Given the description of an element on the screen output the (x, y) to click on. 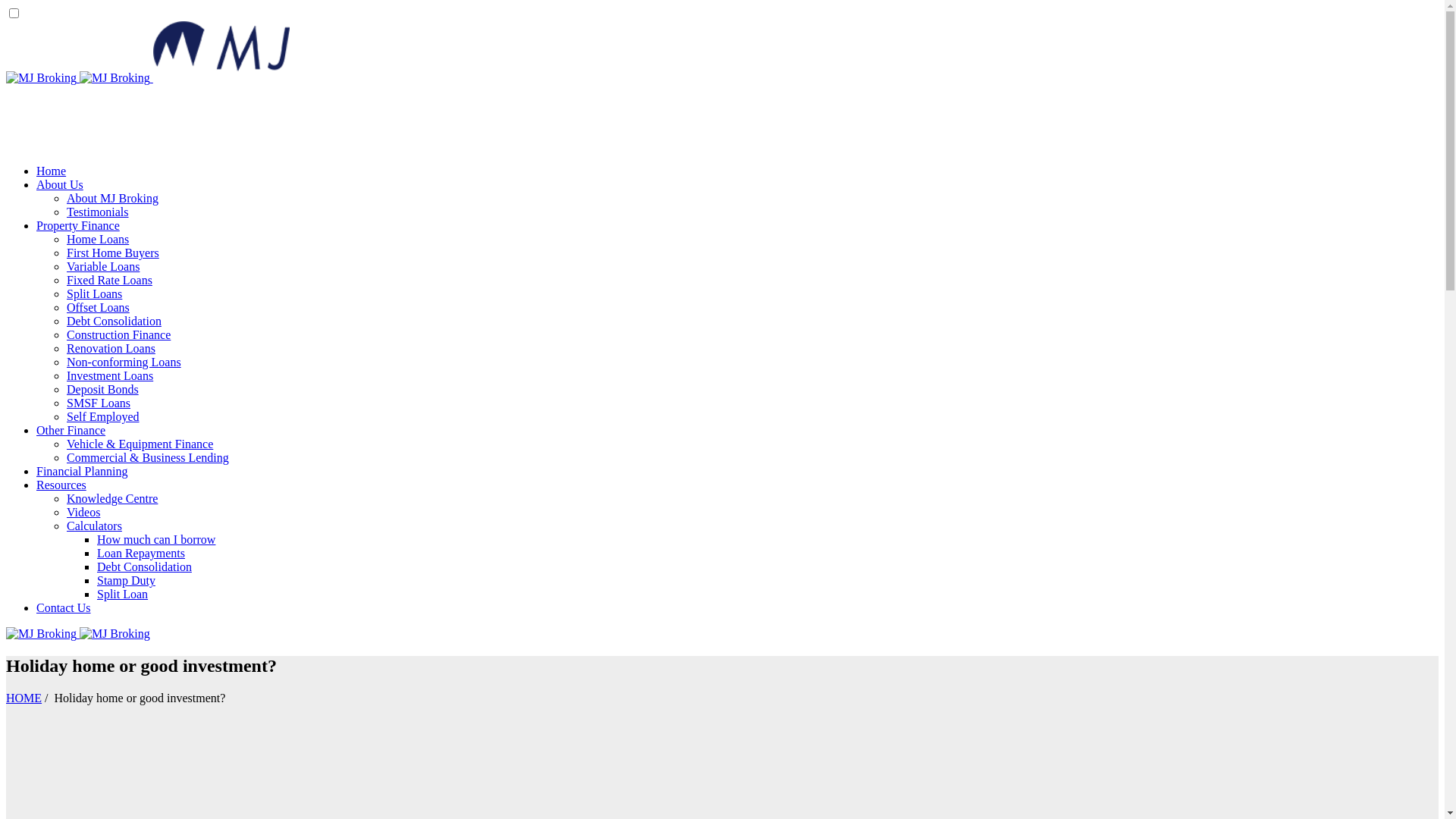
How much can I borrow Element type: text (156, 539)
Home Element type: text (50, 170)
Resources Element type: text (61, 484)
About MJ Broking Element type: text (112, 197)
Split Loan Element type: text (122, 593)
Commercial & Business Lending Element type: text (147, 457)
Loan Repayments Element type: text (141, 552)
SMSF Loans Element type: text (98, 402)
Testimonials Element type: text (97, 211)
Offset Loans Element type: text (97, 307)
Debt Consolidation Element type: text (144, 566)
Split Loans Element type: text (94, 293)
Deposit Bonds Element type: text (102, 388)
Self Employed Element type: text (102, 416)
First Home Buyers Element type: text (112, 252)
Knowledge Centre Element type: text (111, 498)
Home Loans Element type: text (97, 238)
Variable Loans Element type: text (102, 266)
Construction Finance Element type: text (118, 334)
Fixed Rate Loans Element type: text (109, 279)
Investment Loans Element type: text (109, 375)
About Us Element type: text (59, 184)
Non-conforming Loans Element type: text (123, 361)
Other Finance Element type: text (70, 429)
Vehicle & Equipment Finance Element type: text (139, 443)
Financial Planning Element type: text (81, 470)
Videos Element type: text (83, 511)
HOME Element type: text (23, 697)
Property Finance Element type: text (77, 225)
Debt Consolidation Element type: text (113, 320)
Calculators Element type: text (94, 525)
Stamp Duty Element type: text (126, 580)
Contact Us Element type: text (63, 607)
Renovation Loans Element type: text (110, 348)
